Given the description of an element on the screen output the (x, y) to click on. 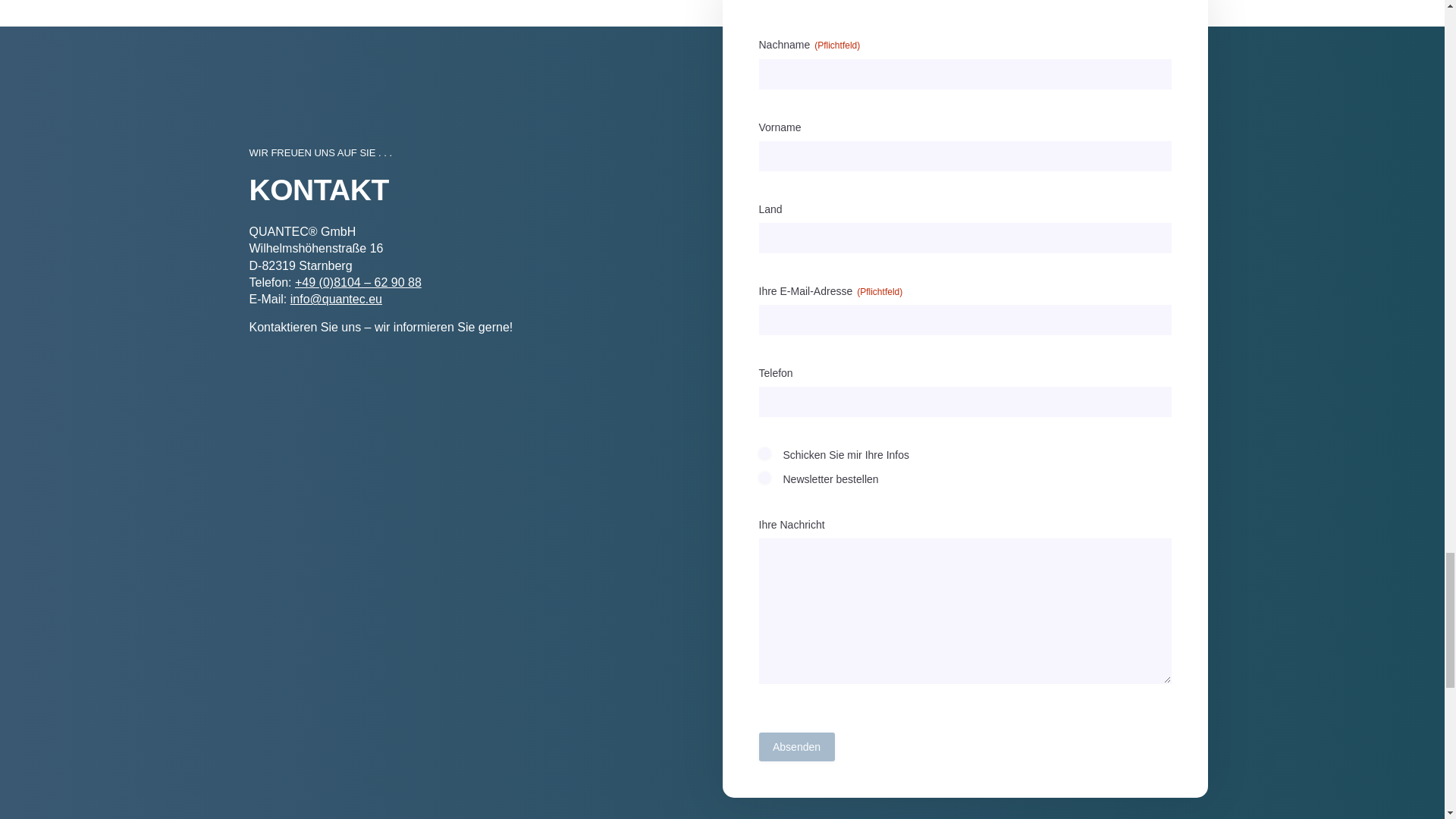
Schicken Sie mir Ihre Infos (764, 452)
Absenden (796, 746)
Newsletter bestellen (764, 477)
